Given the description of an element on the screen output the (x, y) to click on. 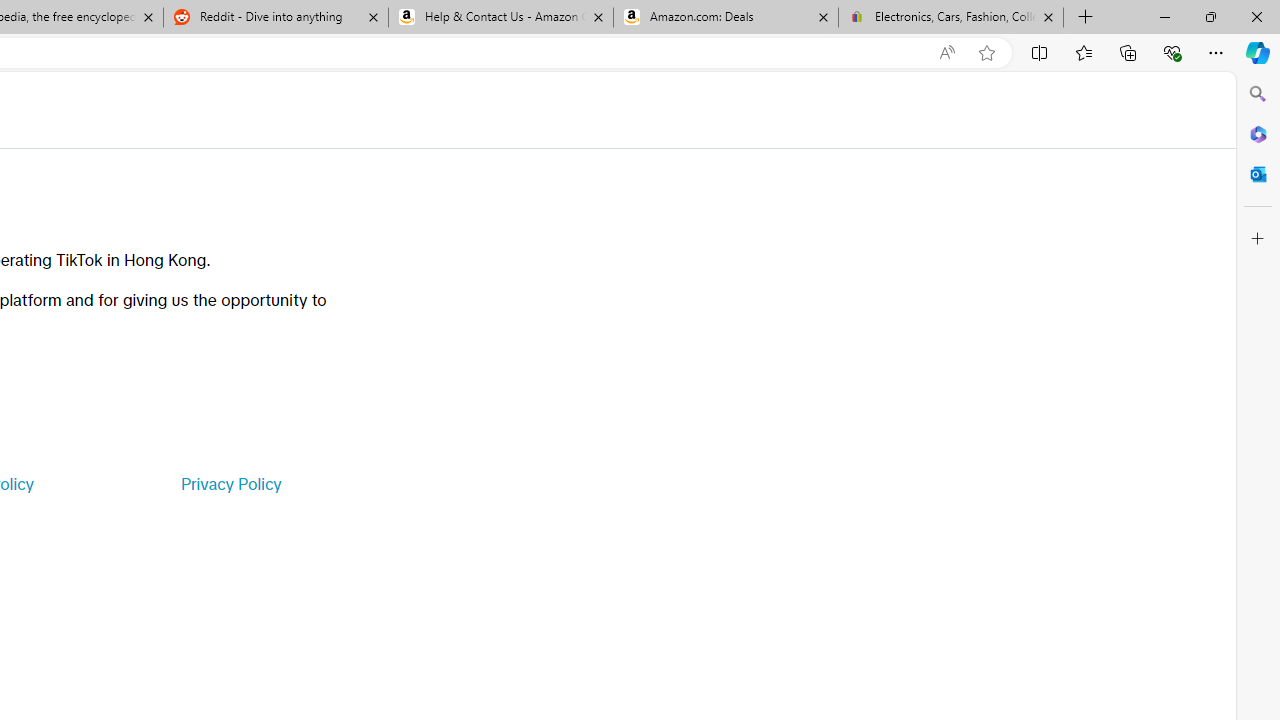
Privacy Policy (230, 484)
